Given the description of an element on the screen output the (x, y) to click on. 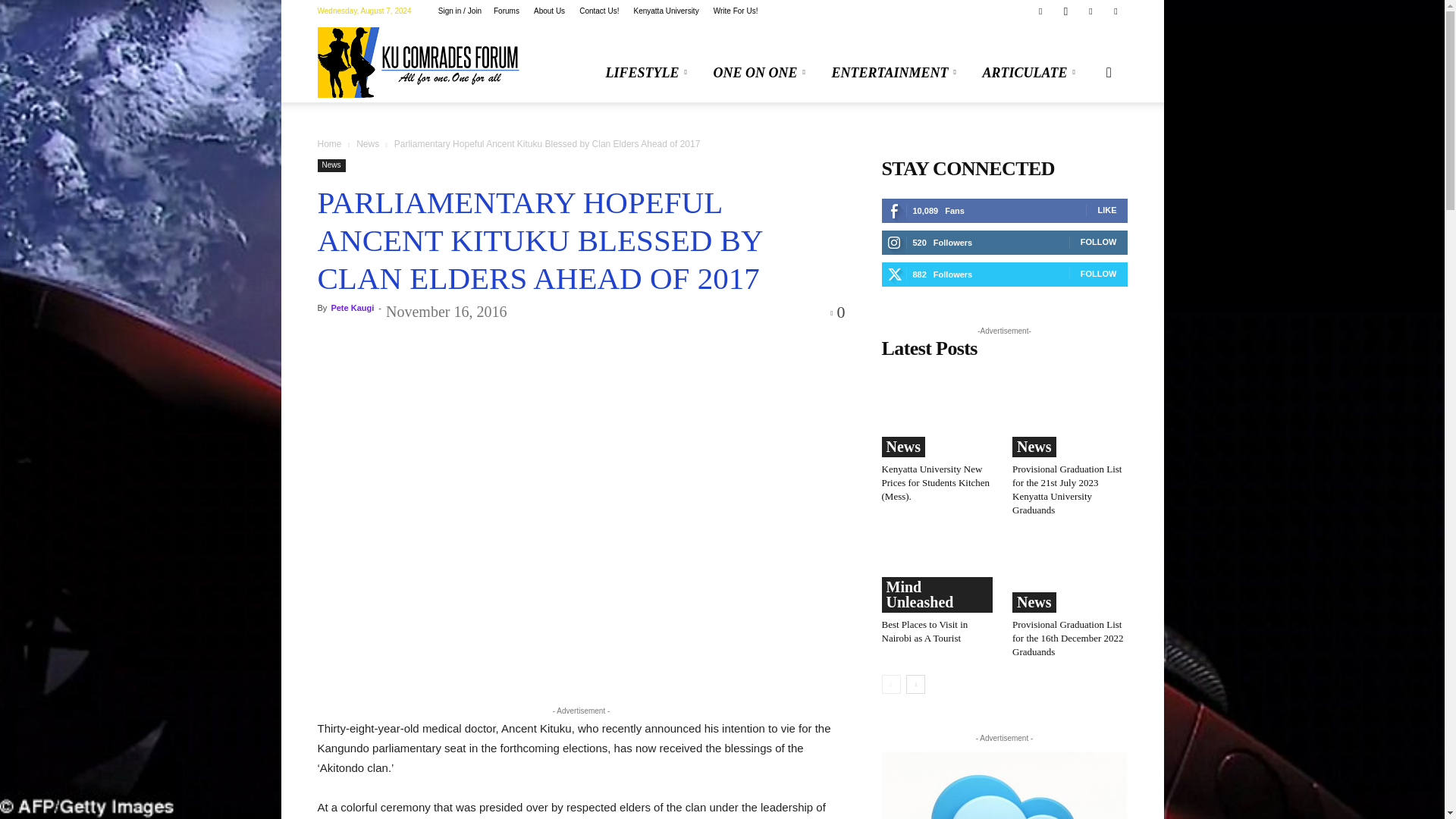
Twitter (1114, 10)
About Us (549, 10)
Mail (1090, 10)
Contact Us! (598, 10)
Kenyatta University (665, 10)
Facebook (1040, 10)
Forums (506, 10)
Write For Us! (735, 10)
Instagram (1065, 10)
